Given the description of an element on the screen output the (x, y) to click on. 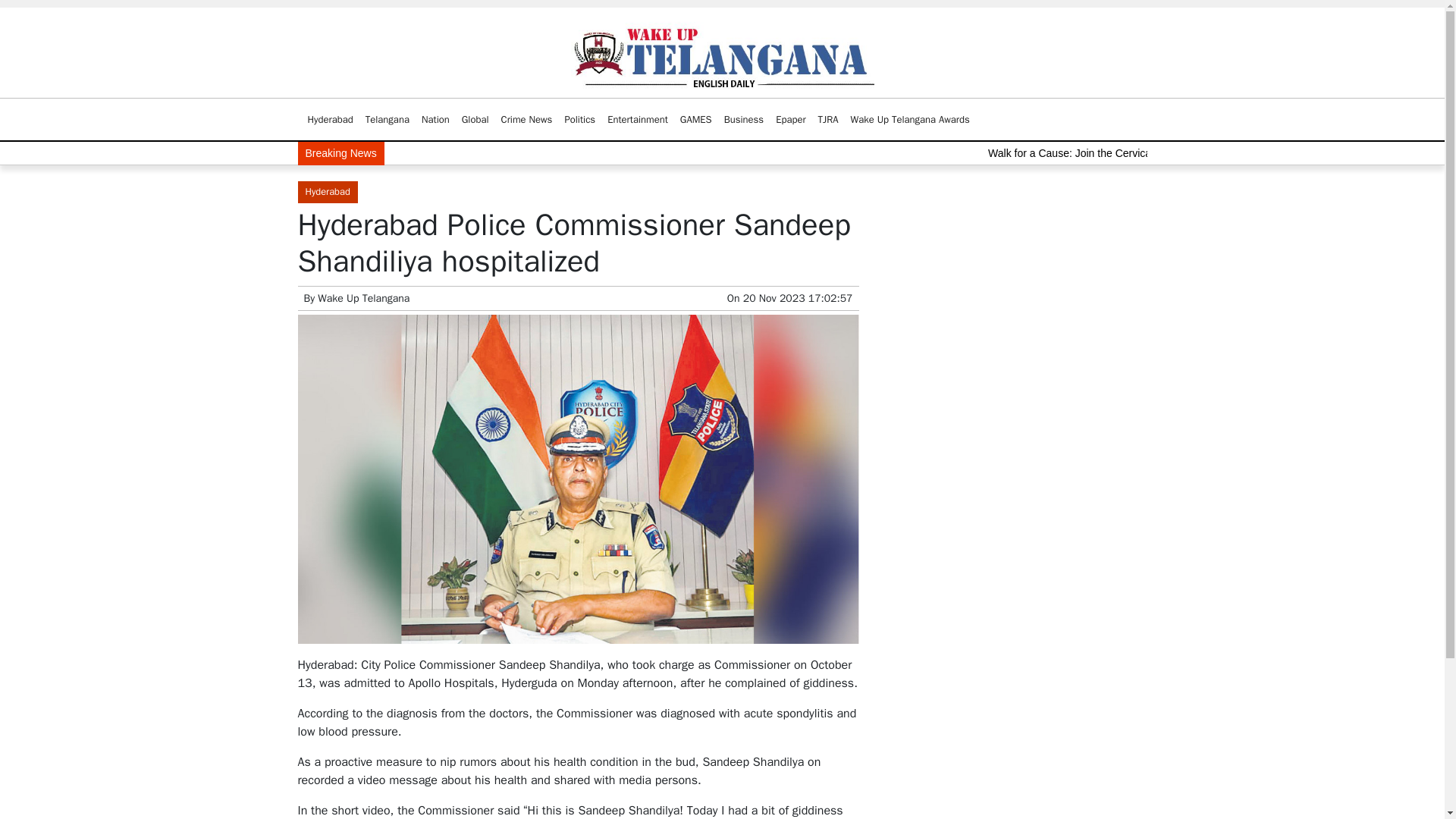
Hyderabad (330, 119)
Business (743, 119)
Global (475, 119)
Wake Up Telangana Awards (909, 119)
Crime News (527, 119)
TJRA (828, 119)
Entertainment (637, 119)
Nation (434, 119)
Politics (579, 119)
Telangana (386, 119)
